Given the description of an element on the screen output the (x, y) to click on. 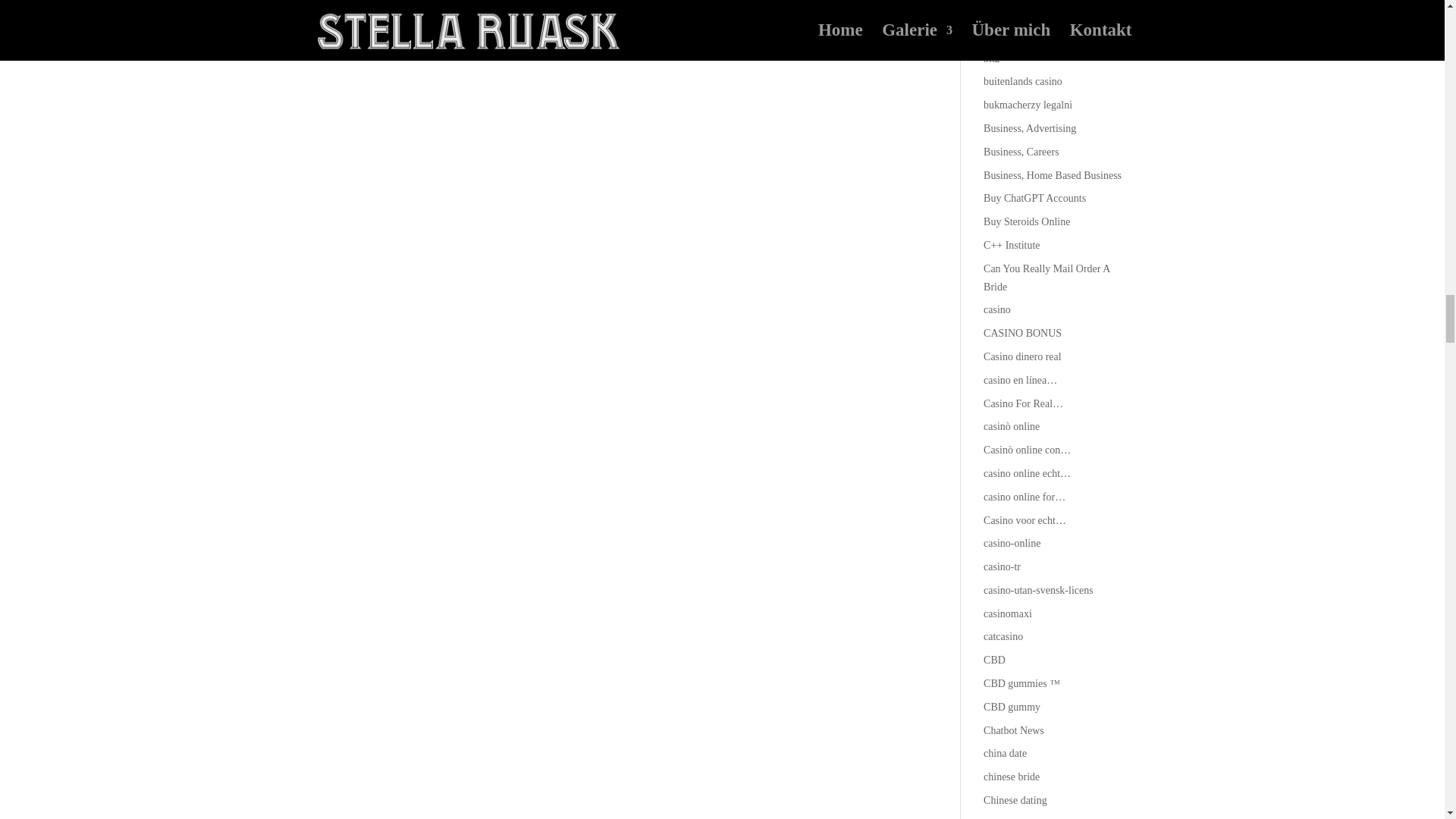
Business, Advertising (1029, 128)
Business, Careers (1021, 152)
Business, Home Based Business (1052, 174)
